Given the description of an element on the screen output the (x, y) to click on. 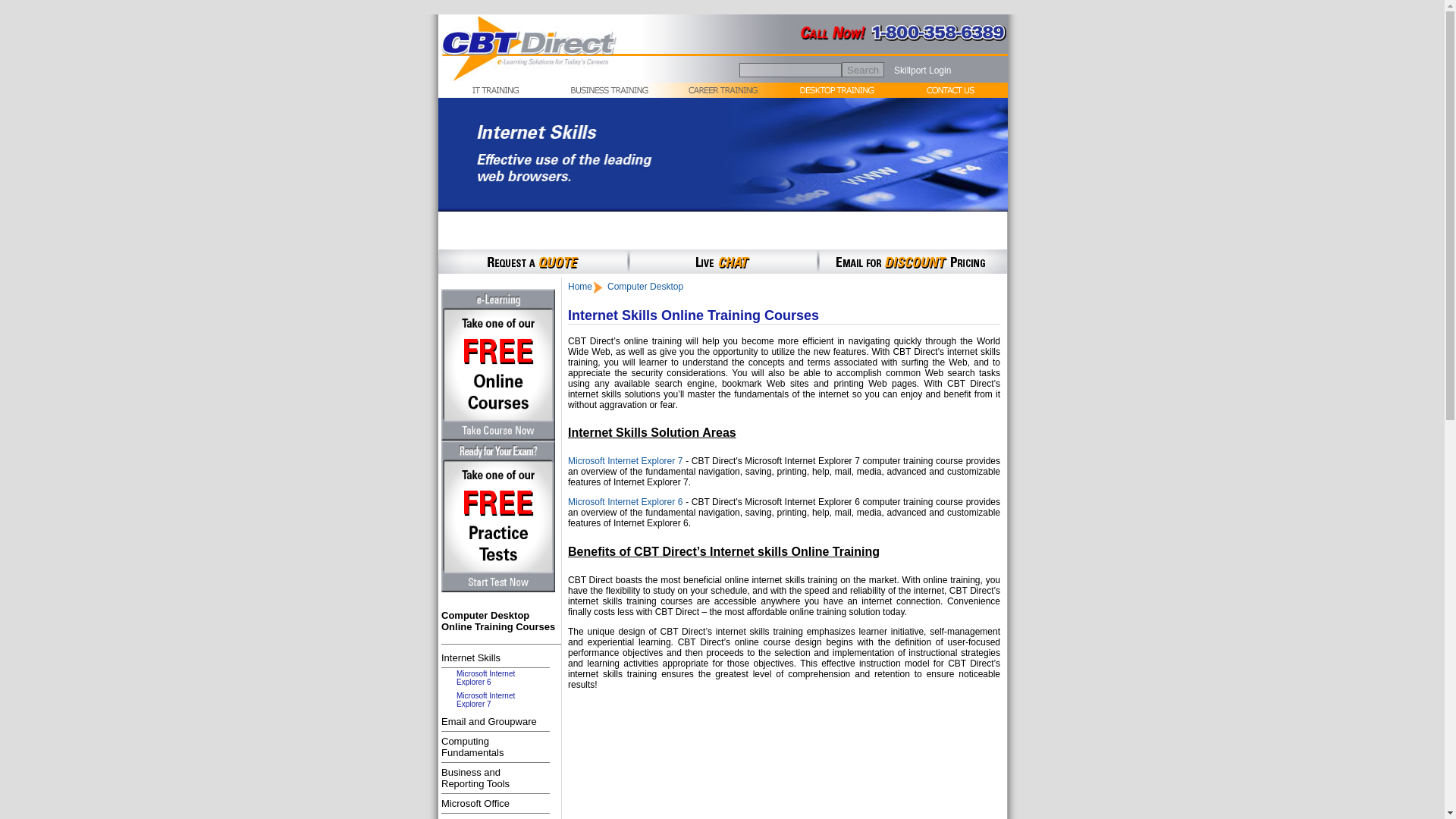
Computing Fundamentals (472, 746)
Email and Groupware (486, 699)
Microsoft Internet Explorer 7 (489, 721)
Search (624, 460)
Microsoft Office (862, 69)
Computer Desktop (486, 677)
Skillport Login (475, 803)
Home (644, 286)
